Given the description of an element on the screen output the (x, y) to click on. 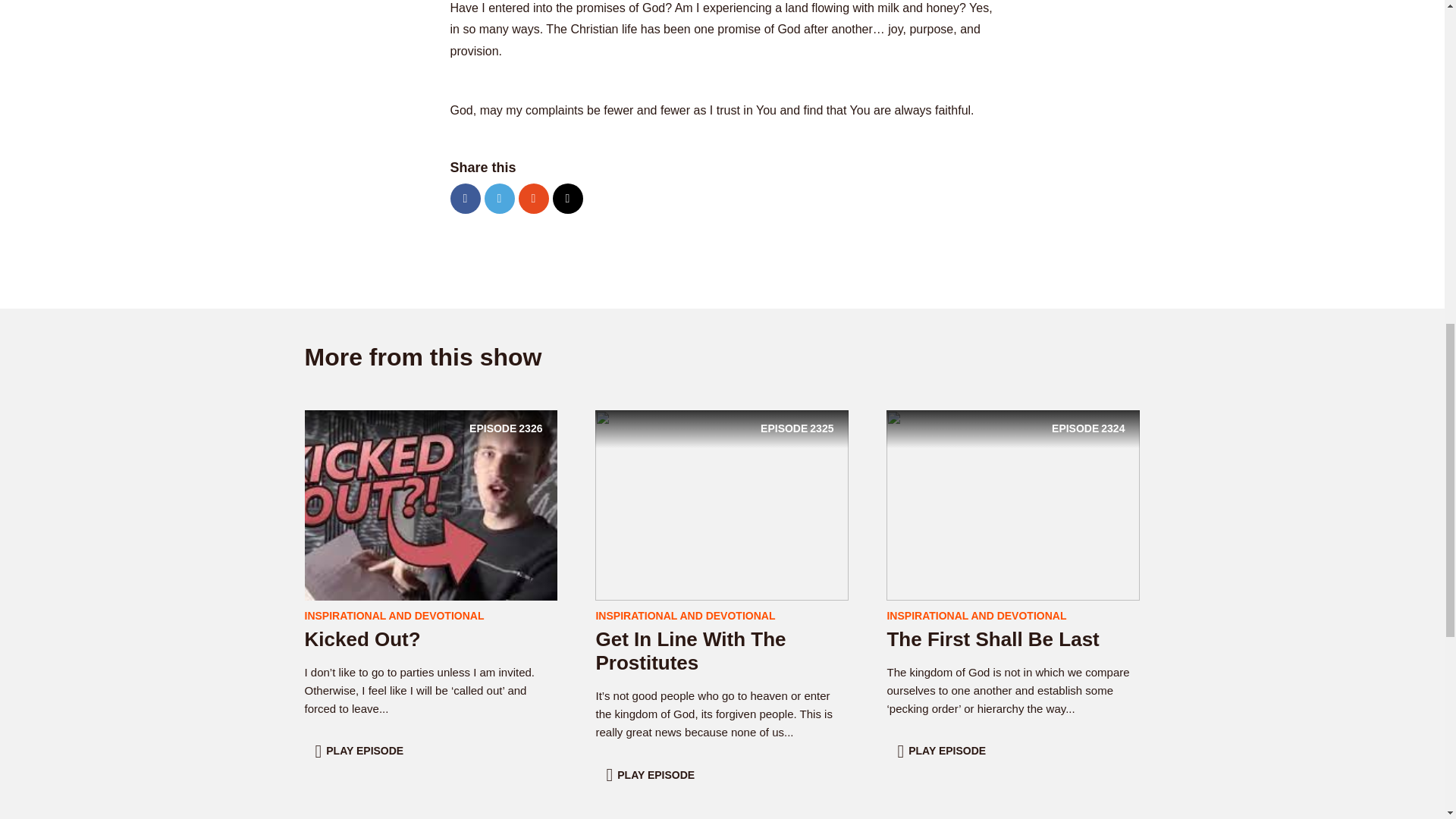
INSPIRATIONAL AND DEVOTIONAL (394, 615)
PLAY EPISODE (1013, 503)
PLAY EPISODE (943, 751)
INSPIRATIONAL AND DEVOTIONAL (361, 751)
PLAY EPISODE (975, 615)
Kicked Out? (652, 775)
INSPIRATIONAL AND DEVOTIONAL (362, 639)
Get In Line With The Prostitutes (684, 615)
The First Shall Be Last (690, 651)
